Given the description of an element on the screen output the (x, y) to click on. 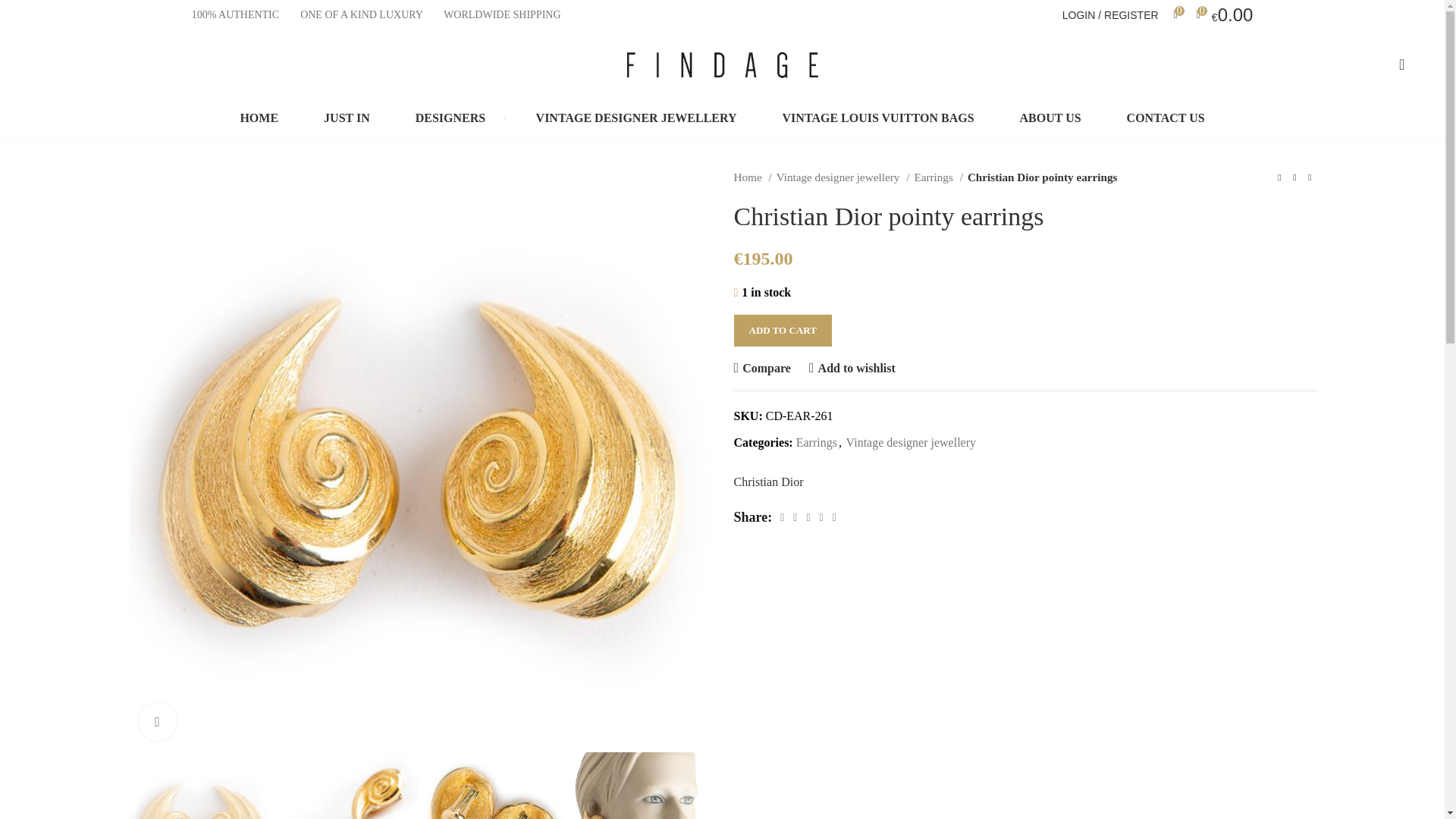
DESIGNERS (452, 118)
VINTAGE LOUIS VUITTON BAGS (878, 118)
HOME (259, 118)
My account (1110, 15)
Vintage designer jewellery (843, 177)
CONTACT US (1166, 118)
View brand (768, 482)
Shopping cart (1224, 15)
ABOUT US (1050, 118)
JUST IN (346, 118)
